Given the description of an element on the screen output the (x, y) to click on. 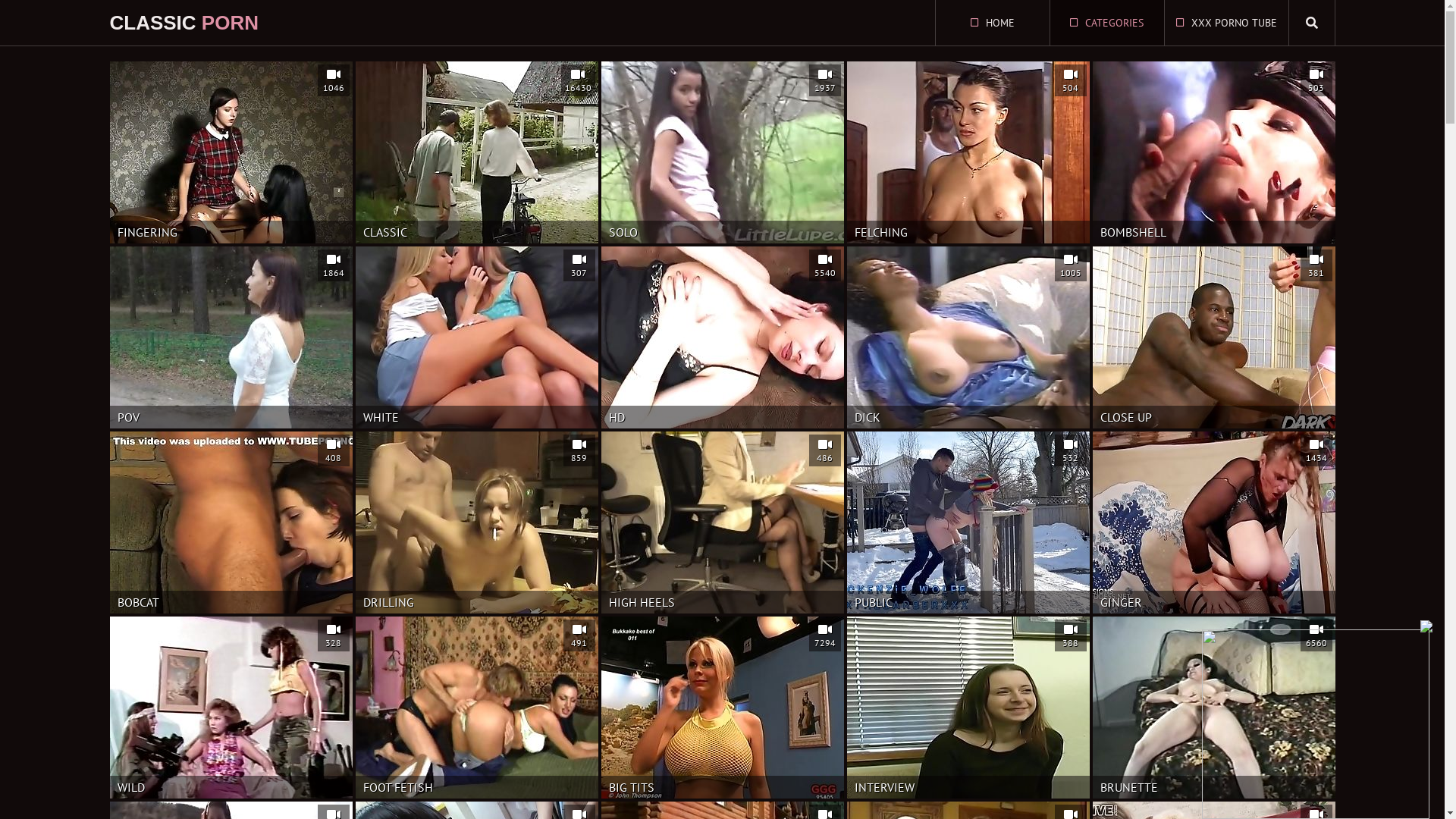
WHITE
307 Element type: text (475, 337)
HD
5540 Element type: text (721, 337)
FOOT FETISH
491 Element type: text (475, 707)
FINGERING
1046 Element type: text (230, 152)
CLOSE UP
381 Element type: text (1213, 337)
DICK
1005 Element type: text (967, 337)
DRILLING
859 Element type: text (475, 522)
BOBCAT
408 Element type: text (230, 522)
INTERVIEW
388 Element type: text (967, 707)
FELCHING
504 Element type: text (967, 152)
BOMBSHELL
503 Element type: text (1213, 152)
SOLO
1937 Element type: text (721, 152)
BIG TITS
7294 Element type: text (721, 707)
CATEGORIES Element type: text (1106, 22)
GINGER
1434 Element type: text (1213, 522)
CLASSIC PORN Element type: text (183, 22)
XXX PORNO TUBE Element type: text (1226, 22)
BRUNETTE
6560 Element type: text (1213, 707)
CLASSIC
16430 Element type: text (475, 152)
HIGH HEELS
486 Element type: text (721, 522)
HOME Element type: text (992, 22)
PUBLIC
532 Element type: text (967, 522)
WILD
328 Element type: text (230, 707)
POV
1864 Element type: text (230, 337)
